Given the description of an element on the screen output the (x, y) to click on. 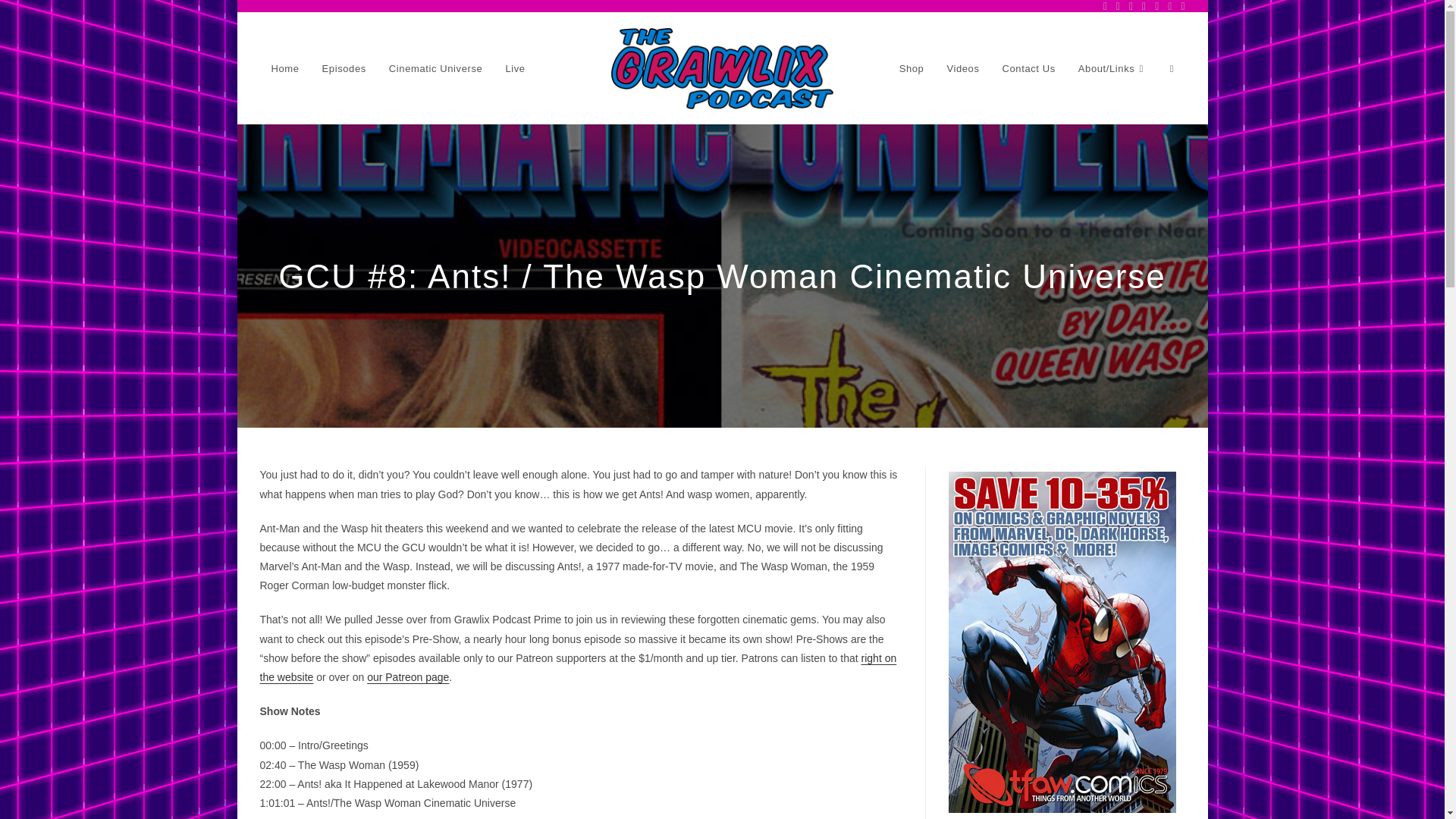
our Patreon page (407, 676)
Home (284, 68)
Episodes (344, 68)
Contact Us (1029, 68)
Videos (962, 68)
Cinematic Universe (436, 68)
right on the website (577, 667)
